Given the description of an element on the screen output the (x, y) to click on. 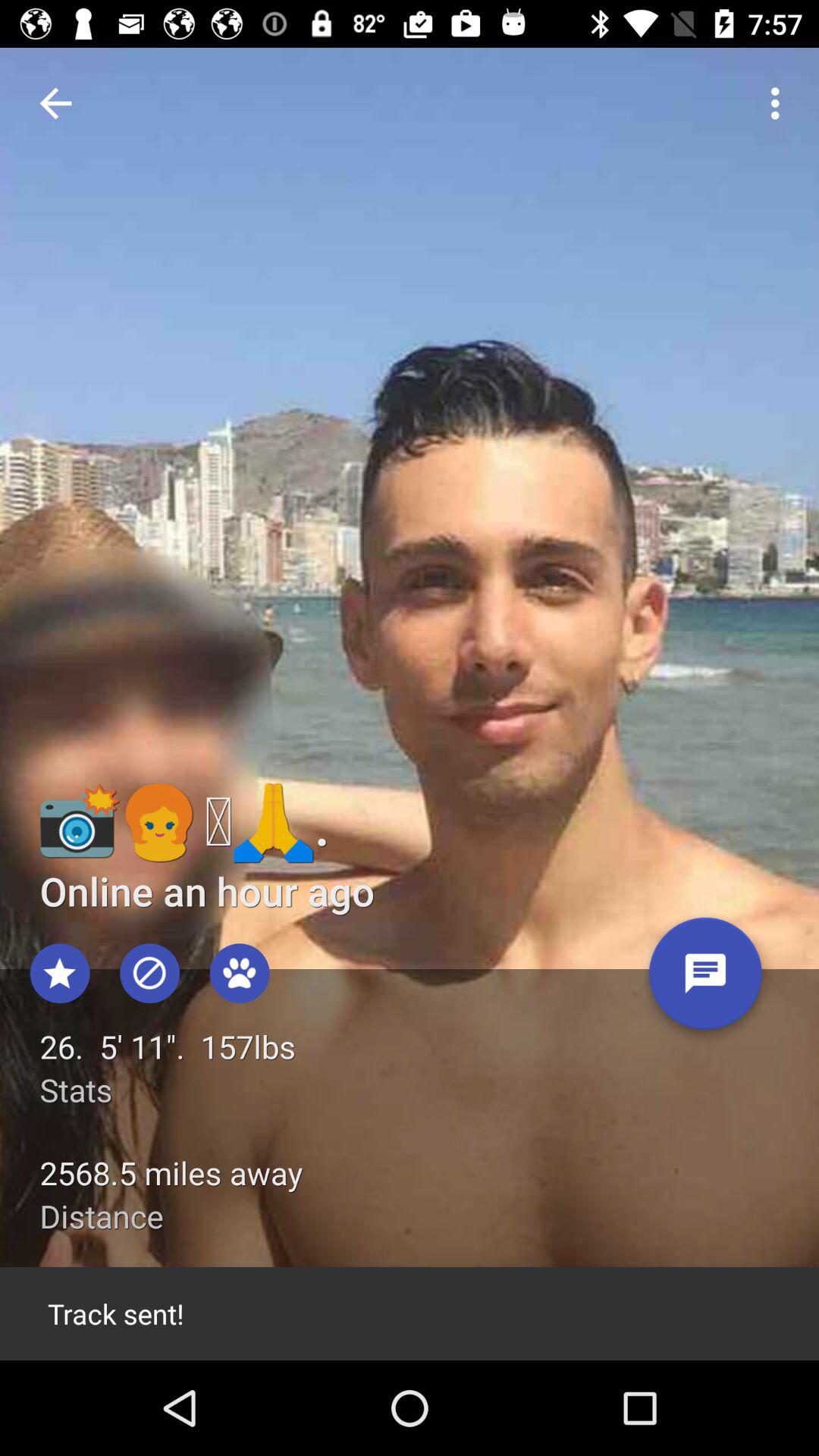
turn on icon to the right of the 26 5 11 icon (705, 979)
